Given the description of an element on the screen output the (x, y) to click on. 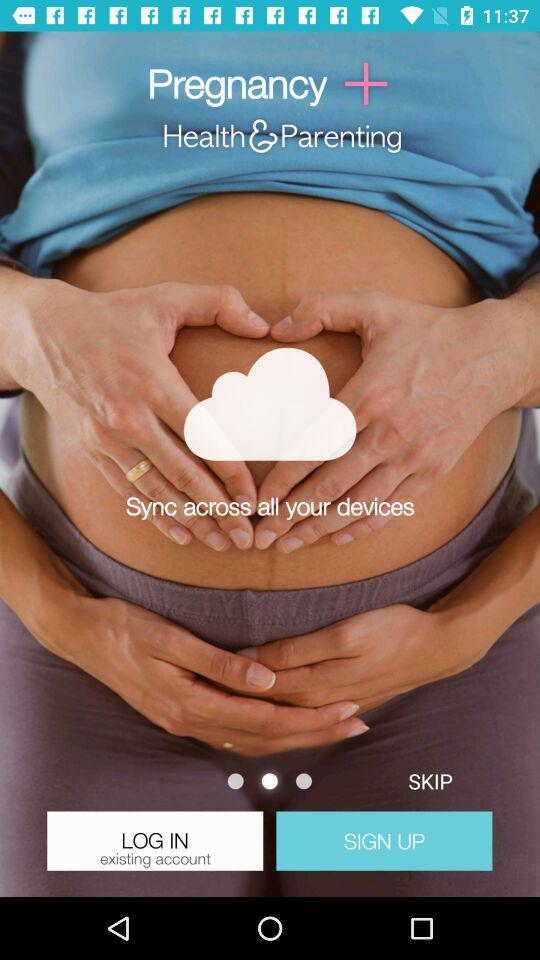
jump to skip (430, 780)
